Given the description of an element on the screen output the (x, y) to click on. 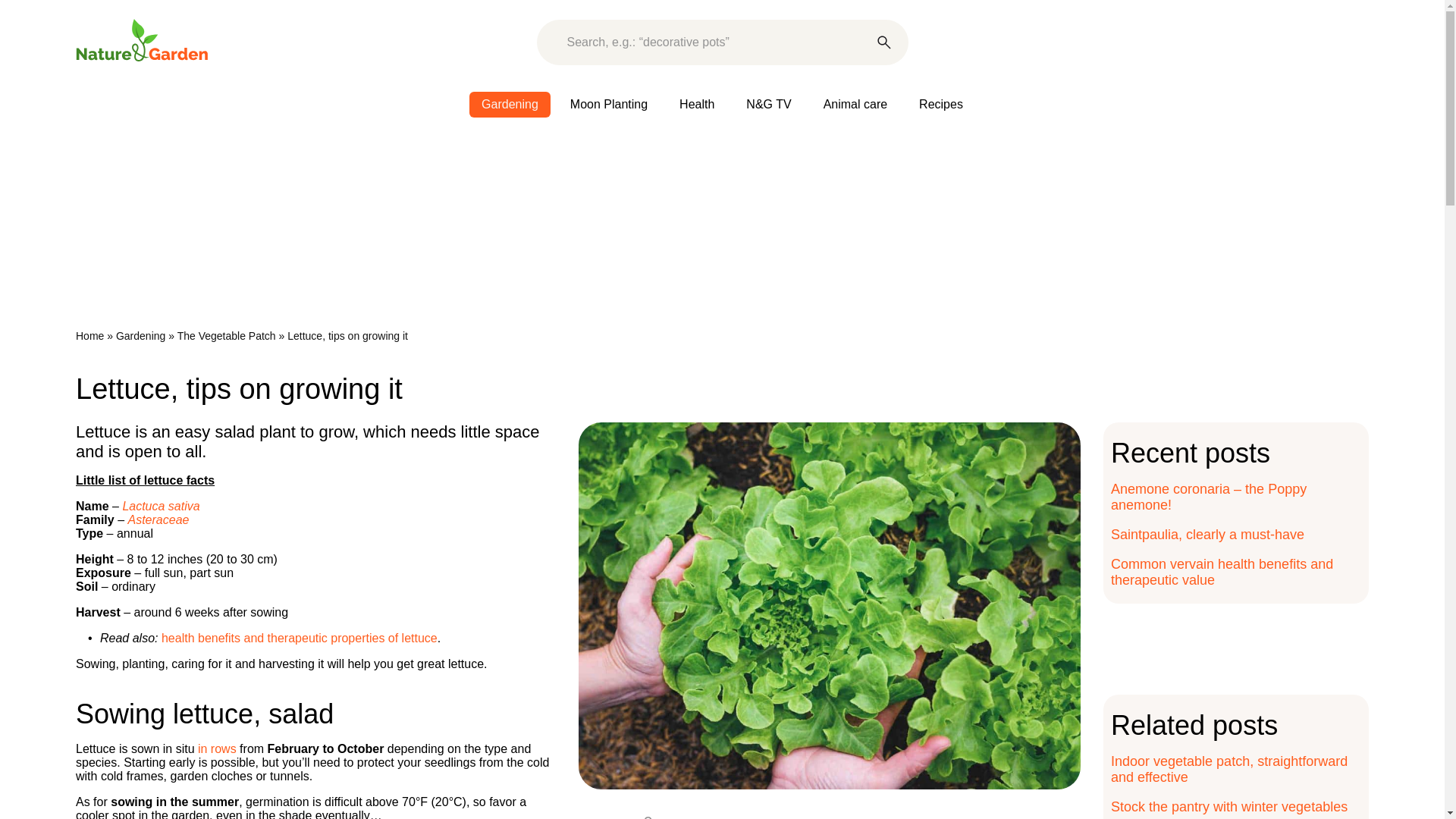
Veggies and flowers, the wonderful Asteraceae family (158, 519)
Health (696, 104)
Moon Planting (608, 104)
Health benefits of lettuce for the body (299, 637)
Recipes (941, 104)
Rechercher (884, 42)
Gardening (509, 104)
Rechercher (884, 42)
Animal care (854, 104)
Rechercher (884, 42)
